Given the description of an element on the screen output the (x, y) to click on. 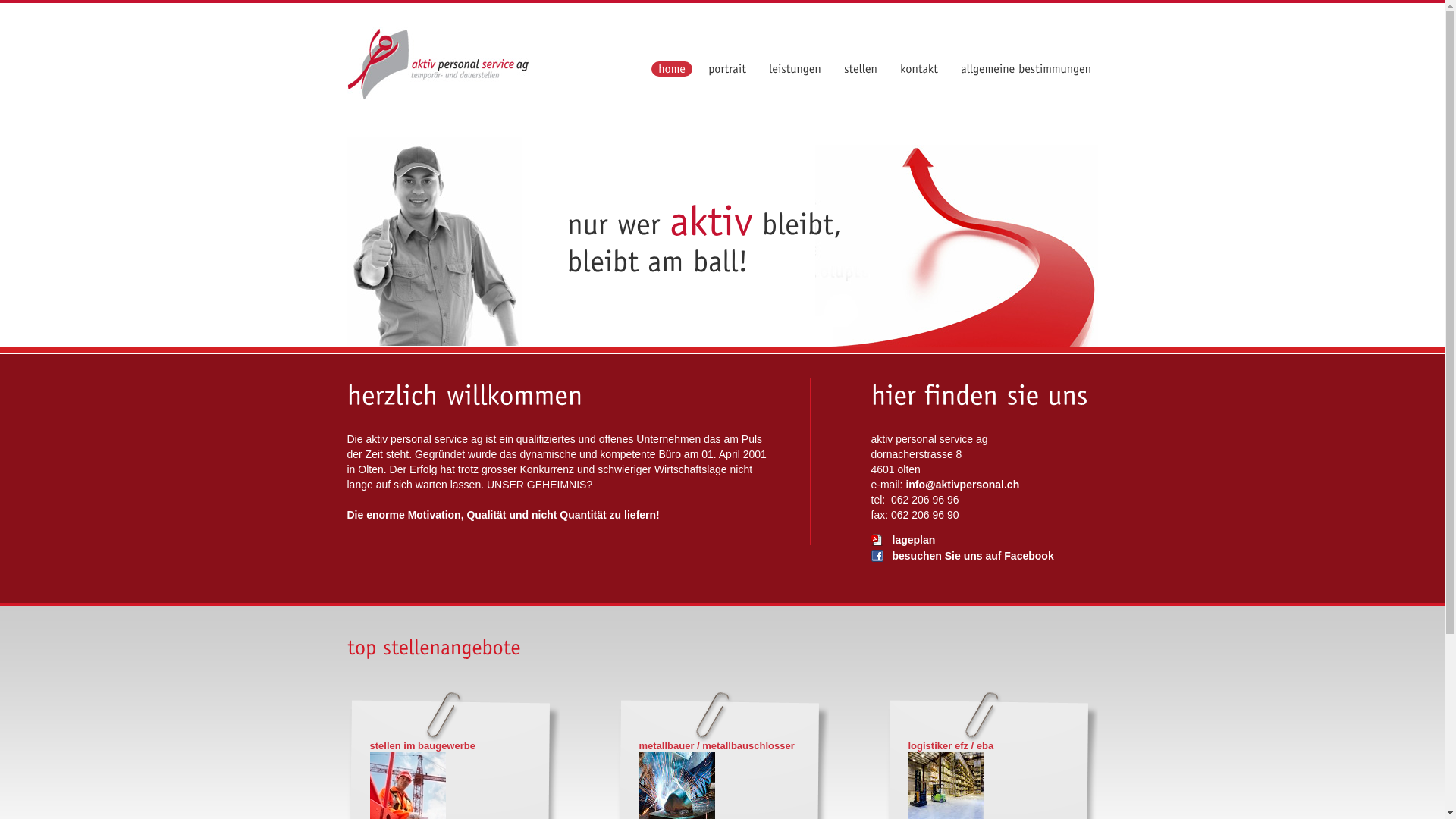
aktiv personal service ag Element type: hover (438, 65)
allgemeine bestimmungen Element type: hover (1025, 68)
Leistungen Element type: hover (794, 68)
logistiker efz / eba Element type: text (951, 745)
metallbauer / metallbauschlosser Element type: text (715, 745)
stellen im baugewerbe Element type: text (422, 745)
info@aktivpersonal.ch Element type: text (962, 484)
Stellen Element type: hover (860, 68)
Home Element type: hover (670, 68)
Kontakt Element type: hover (918, 68)
Portrait Element type: hover (726, 68)
lageplan Element type: text (902, 541)
besuchen Sie uns auf Facebook Element type: text (972, 555)
